Given the description of an element on the screen output the (x, y) to click on. 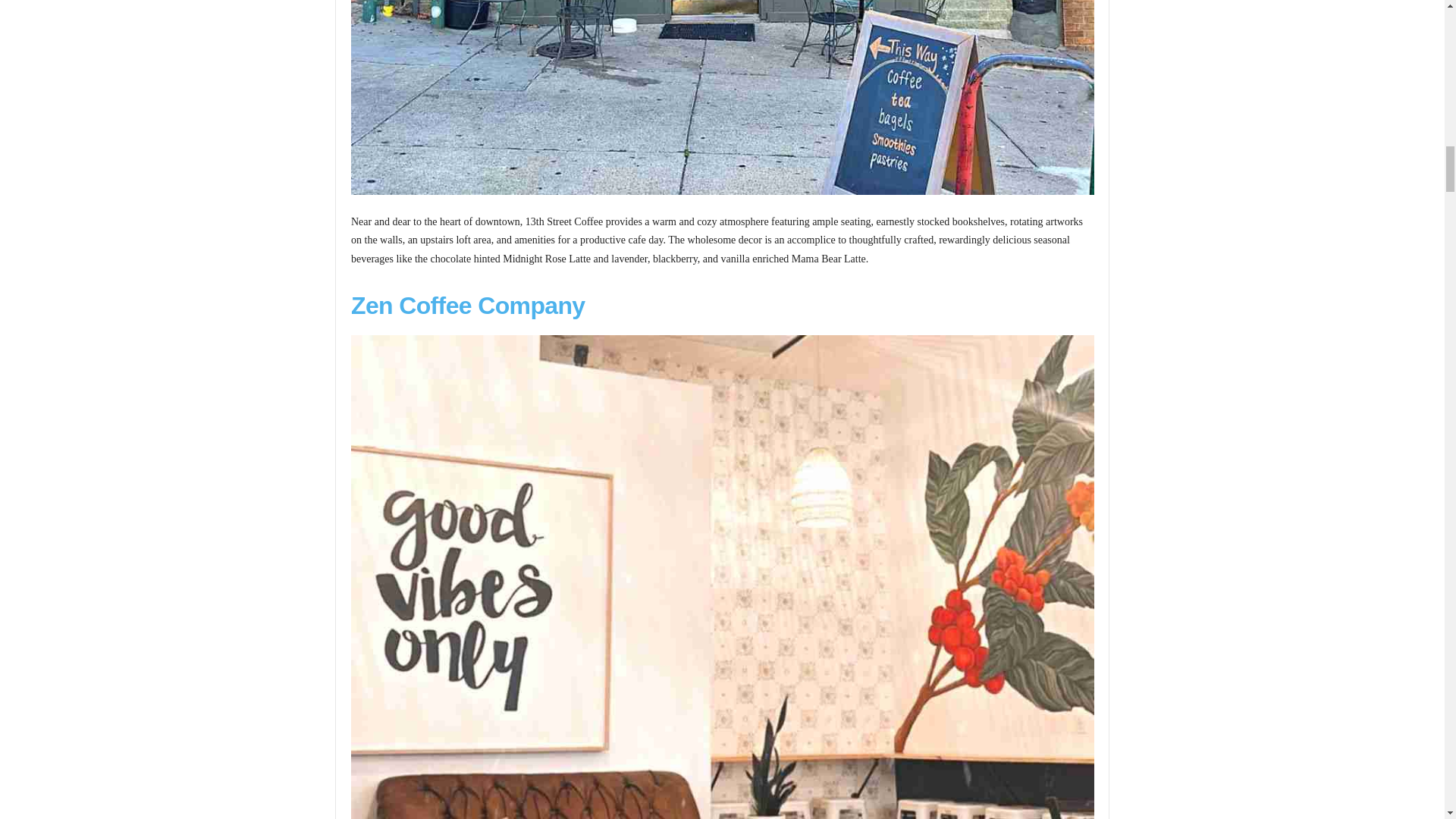
Zen Coffee Company (467, 305)
